Given the description of an element on the screen output the (x, y) to click on. 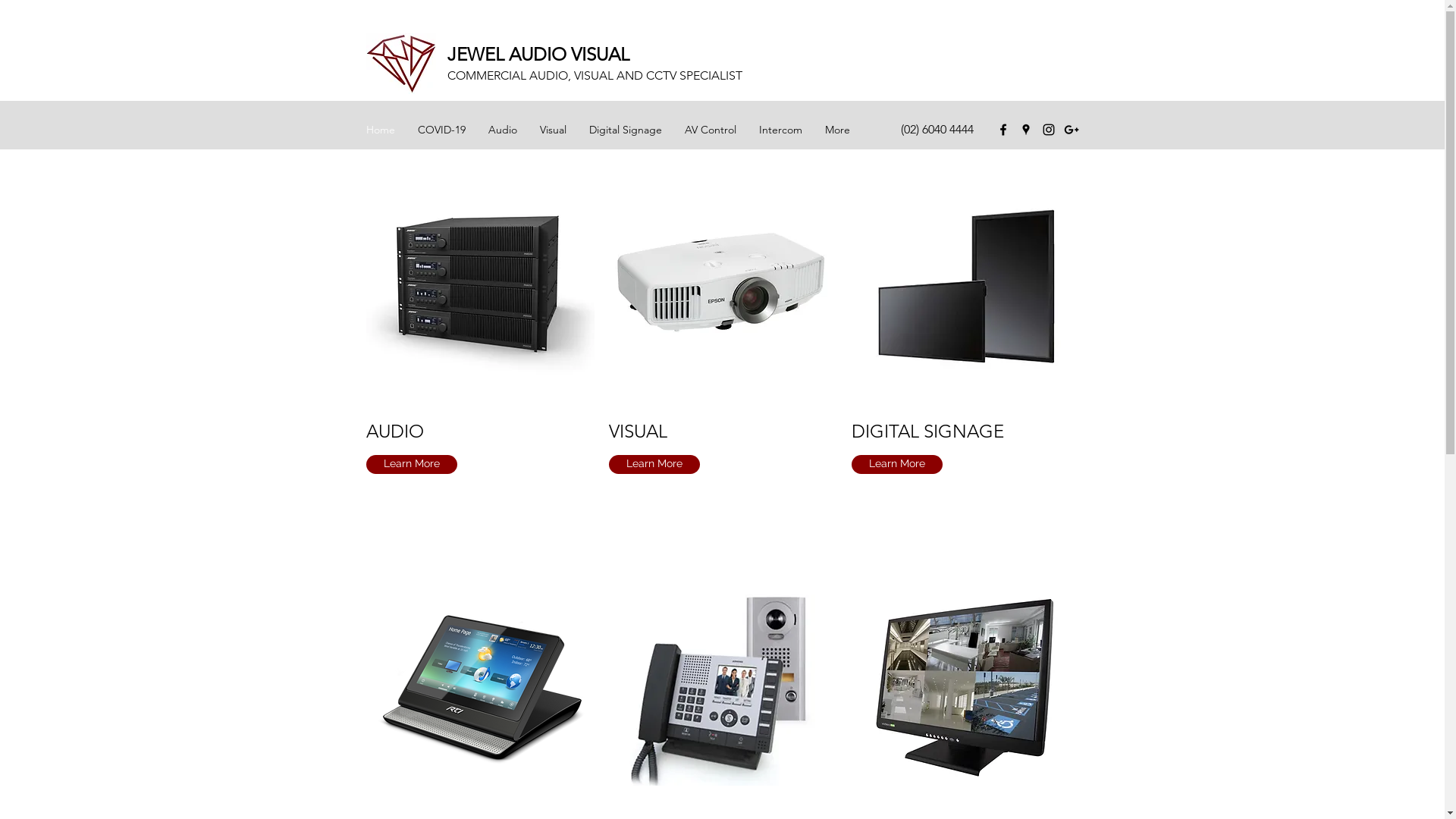
rti_cx-7_v2_45_trans.png Element type: hover (479, 686)
ISS-IPMDV.jpg Element type: hover (722, 686)
Digital Signage Element type: text (625, 129)
i_powermatch_familystacked_left.jpg Element type: hover (479, 285)
lcd_522_1 (1).jpg Element type: hover (964, 686)
AV Control Element type: text (710, 129)
Audio Element type: text (501, 129)
portrait_orientations.jpg Element type: hover (964, 285)
COVID-19 Element type: text (441, 129)
Jewel deleted BG.jpg Element type: hover (400, 63)
Learn More Element type: text (895, 464)
Learn More Element type: text (410, 464)
epson_eb_g5600_0.jpg Element type: hover (722, 285)
Visual Element type: text (552, 129)
Home Element type: text (380, 129)
Intercom Element type: text (780, 129)
Learn More Element type: text (653, 464)
